Given the description of an element on the screen output the (x, y) to click on. 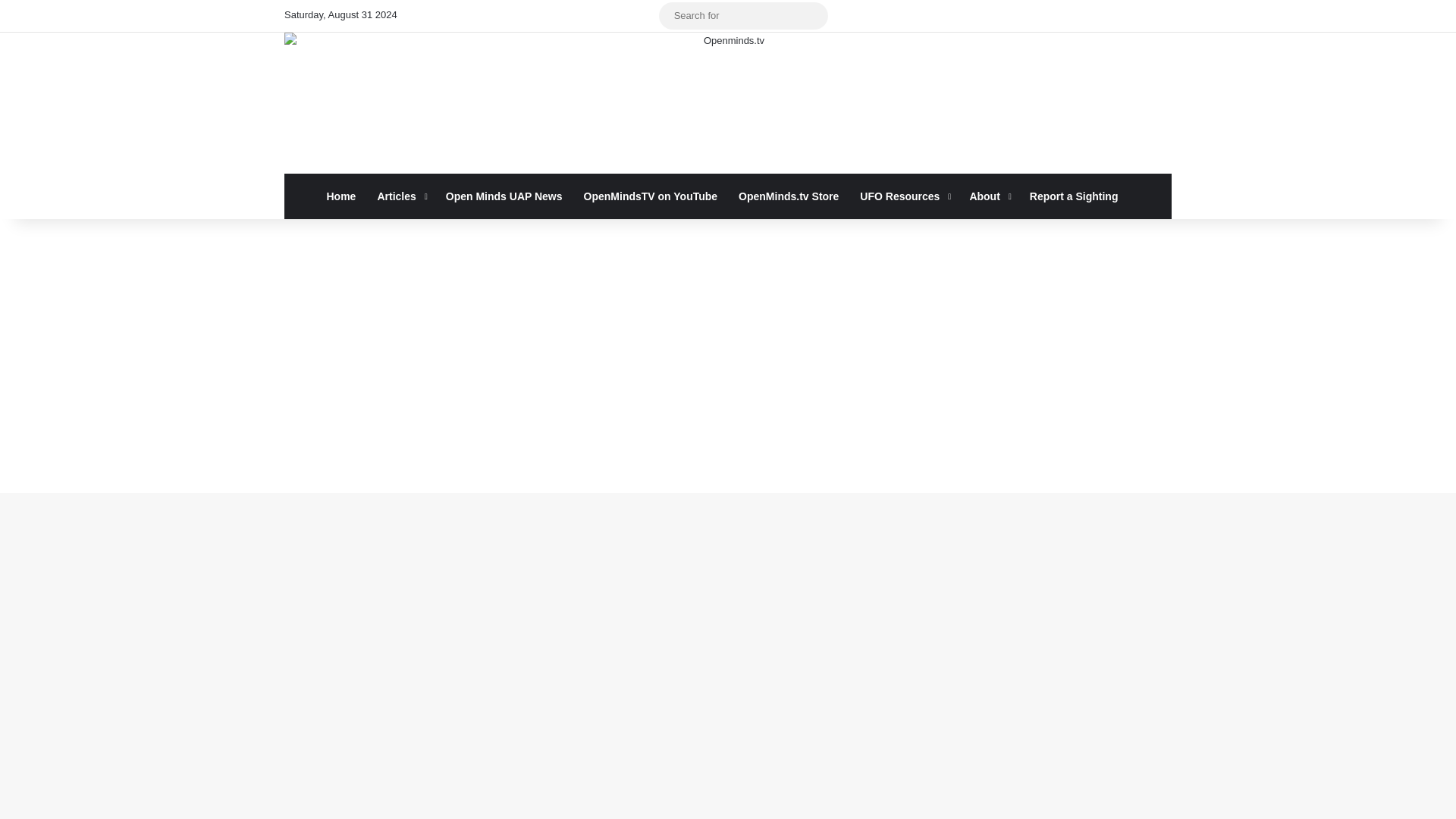
OpenMinds.tv Store (788, 196)
Articles (399, 196)
UFO Resources (903, 196)
Open Minds UAP News (504, 196)
Home (340, 196)
About (987, 196)
OpenMindsTV on YouTube (651, 196)
Search for (743, 15)
Openminds.tv (727, 102)
Search for (812, 15)
